Given the description of an element on the screen output the (x, y) to click on. 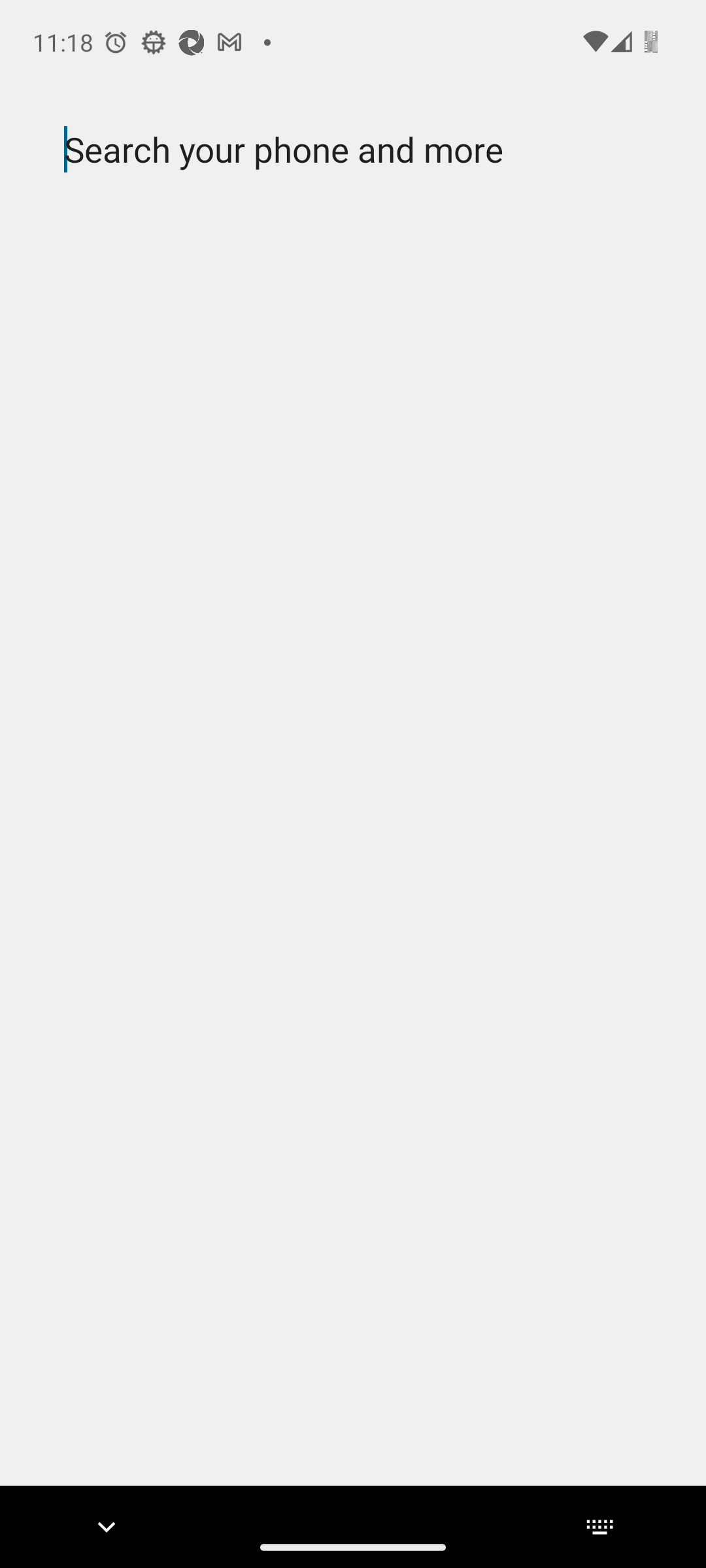
Search your phone and more (321, 149)
